Given the description of an element on the screen output the (x, y) to click on. 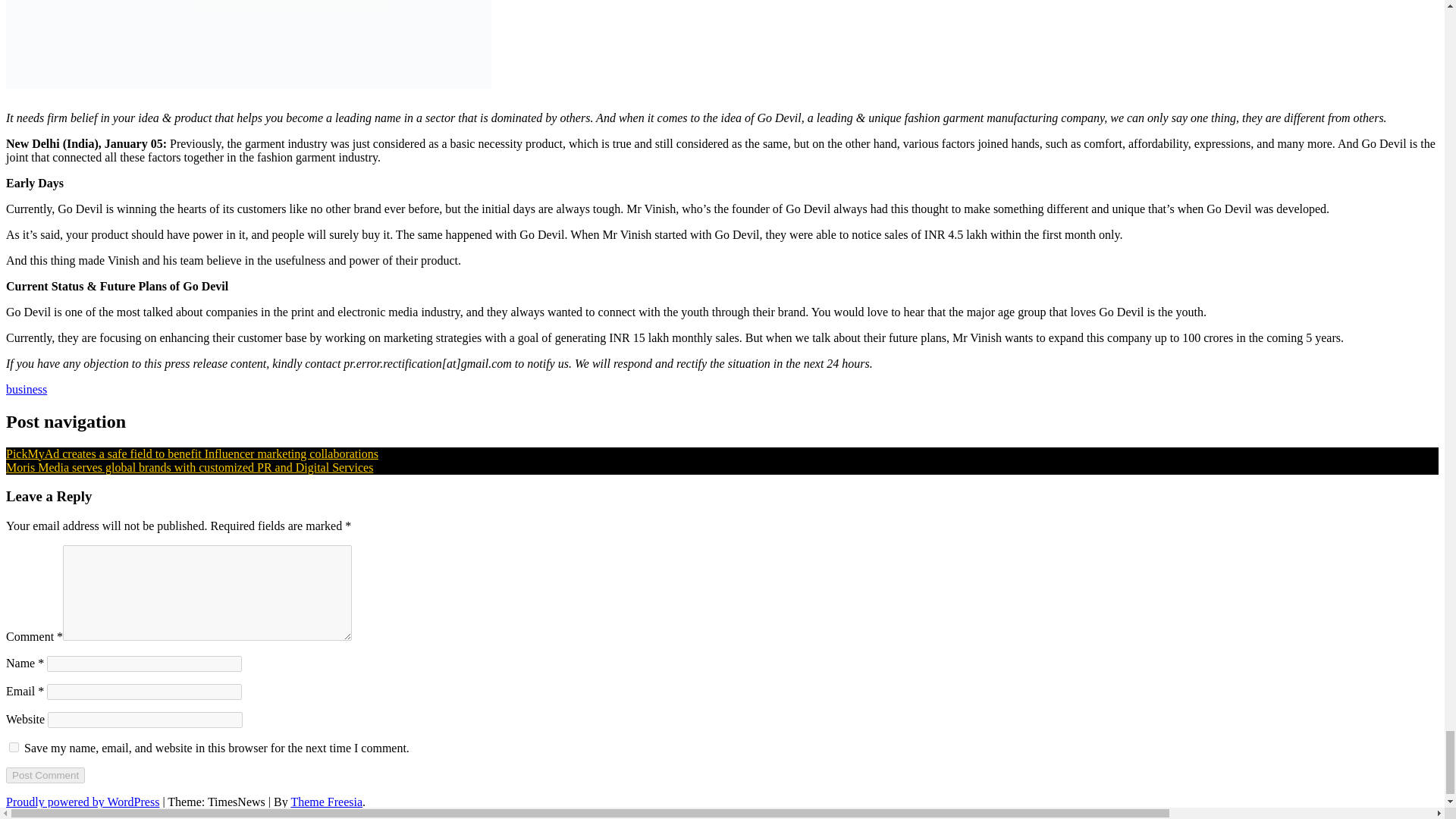
yes (13, 747)
Post Comment (44, 774)
